Given the description of an element on the screen output the (x, y) to click on. 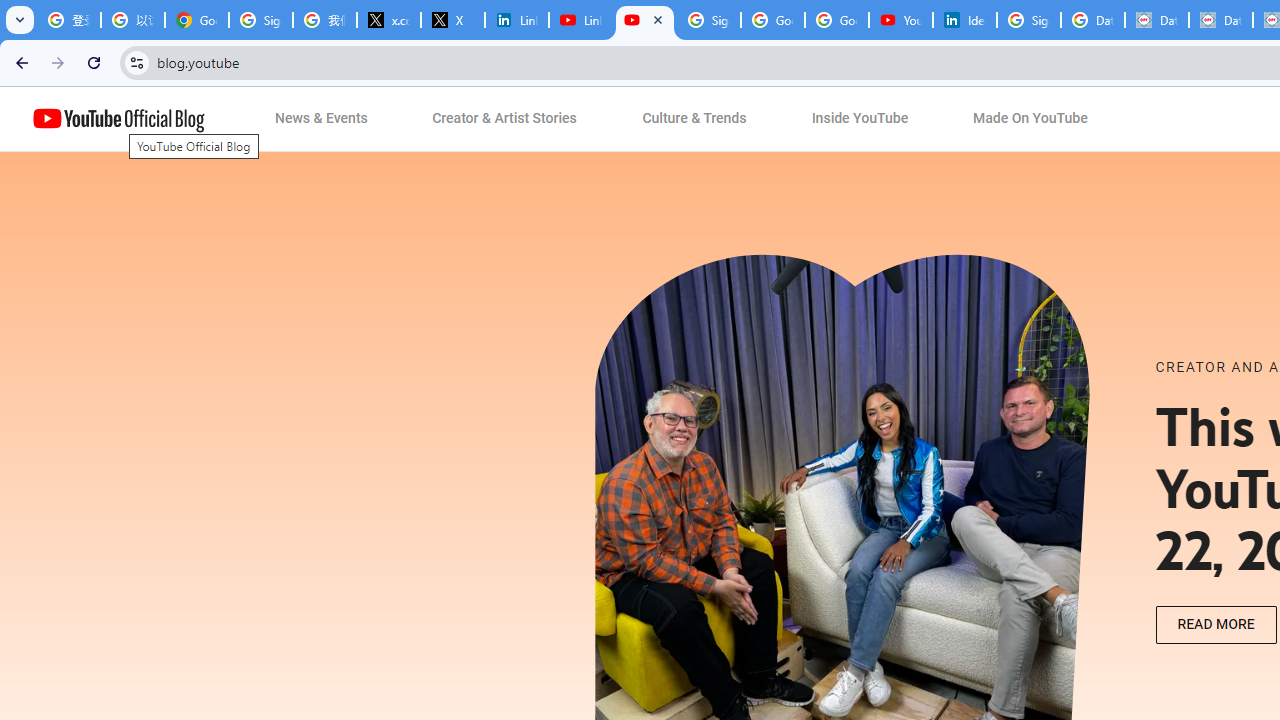
Data Privacy Framework (1157, 20)
Made On YouTube (1030, 119)
Creator & Artist Stories (505, 119)
Culture & Trends (694, 119)
LinkedIn - YouTube (581, 20)
News & Events (321, 119)
YouTube Official Blog logo (118, 119)
